Given the description of an element on the screen output the (x, y) to click on. 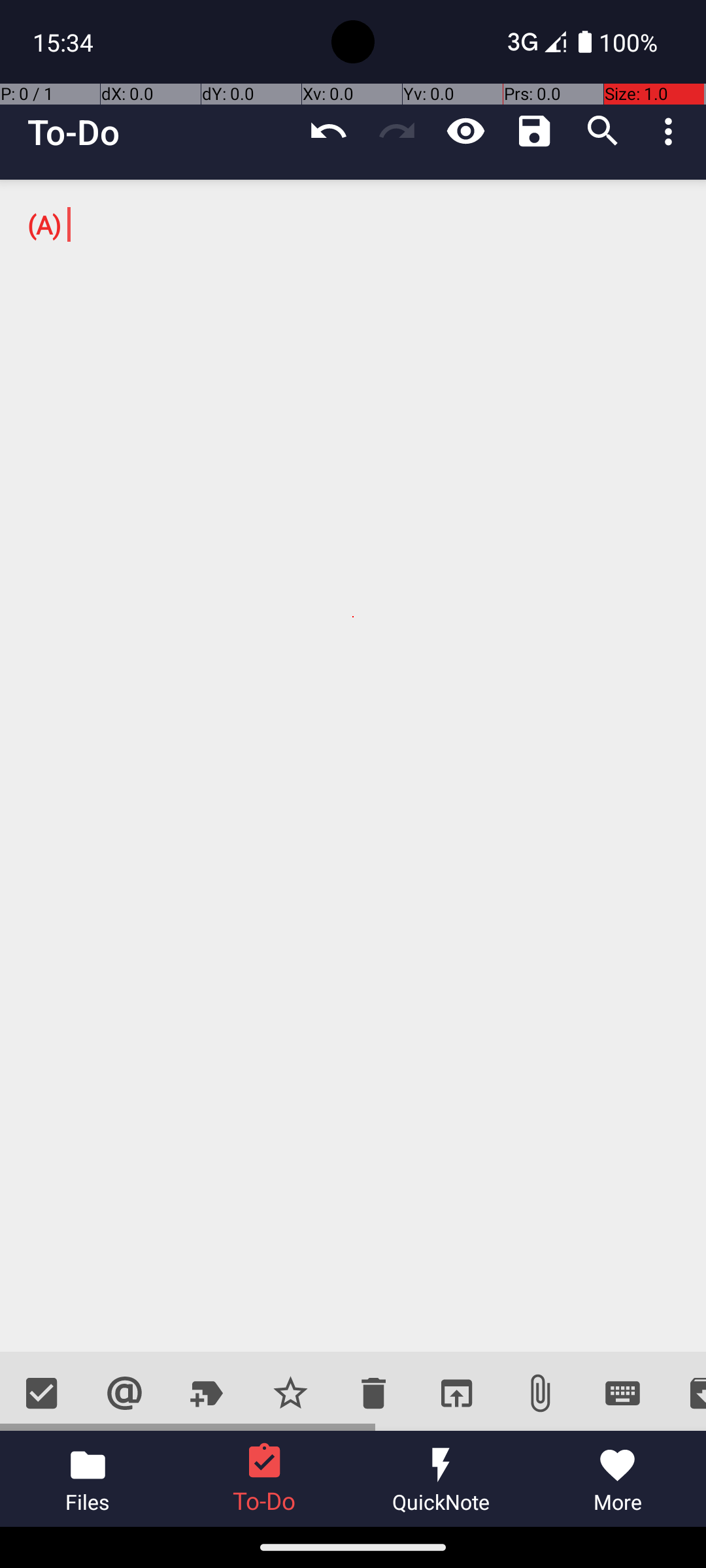
To-Do Element type: android.widget.TextView (73, 131)
Undo Element type: android.widget.TextView (328, 131)
Redo Element type: android.widget.TextView (396, 131)
View mode Element type: android.widget.TextView (465, 131)
QuickNote Element type: android.widget.FrameLayout (441, 1478)
More Element type: android.widget.FrameLayout (617, 1478)
(A)  Element type: android.widget.EditText (353, 765)
Toggle done Element type: android.widget.ImageView (41, 1392)
Add context Element type: android.widget.ImageView (124, 1392)
Add project Element type: android.widget.ImageView (207, 1392)
Priority Element type: android.widget.ImageView (290, 1392)
Delete lines Element type: android.widget.ImageView (373, 1392)
Open link Element type: android.widget.ImageView (456, 1392)
Attach Element type: android.widget.ImageView (539, 1392)
Special Key Element type: android.widget.ImageView (622, 1392)
Archive completed tasks Element type: android.widget.ImageView (685, 1392)
